Given the description of an element on the screen output the (x, y) to click on. 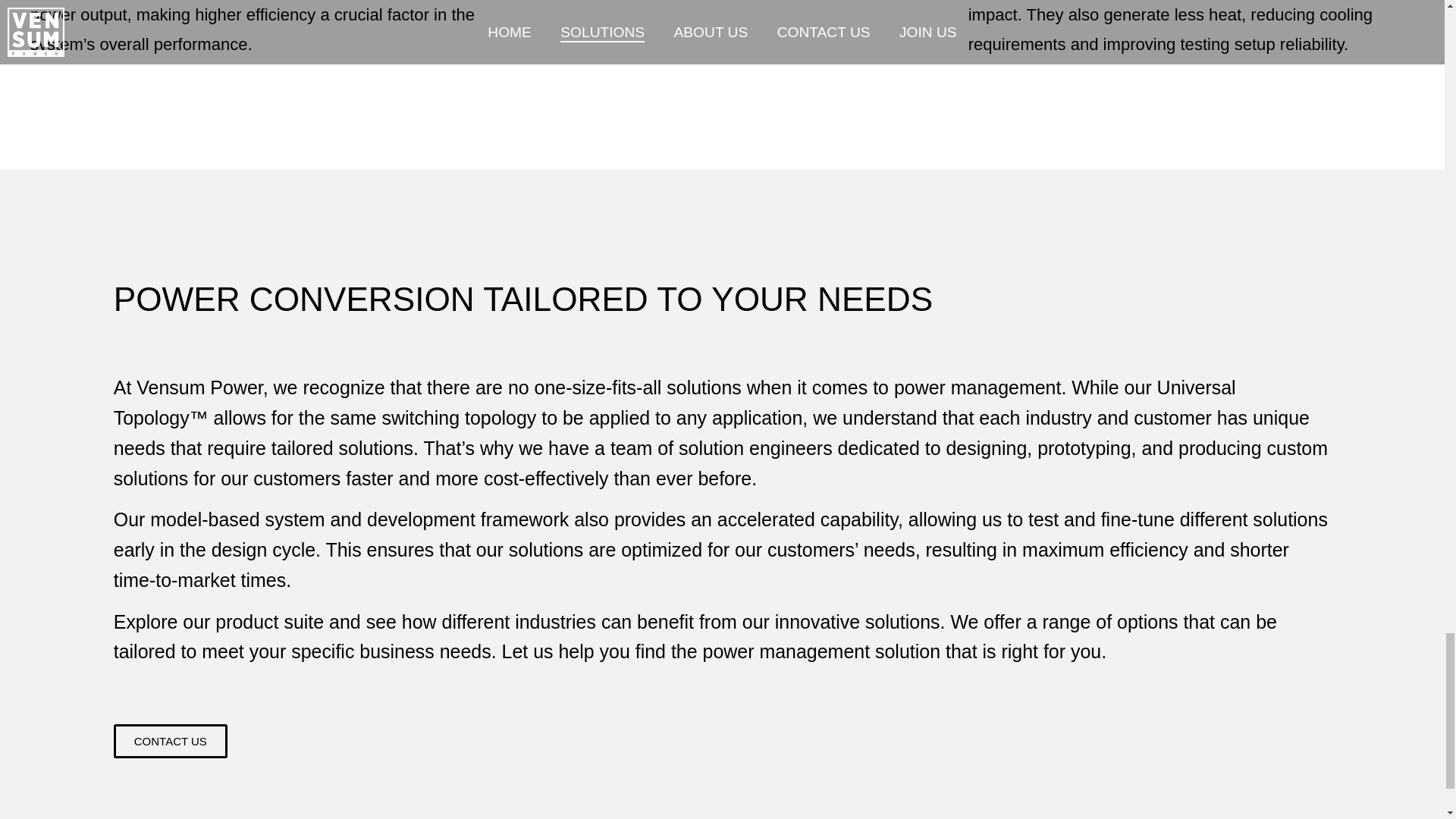
CONTACT US (170, 740)
